Given the description of an element on the screen output the (x, y) to click on. 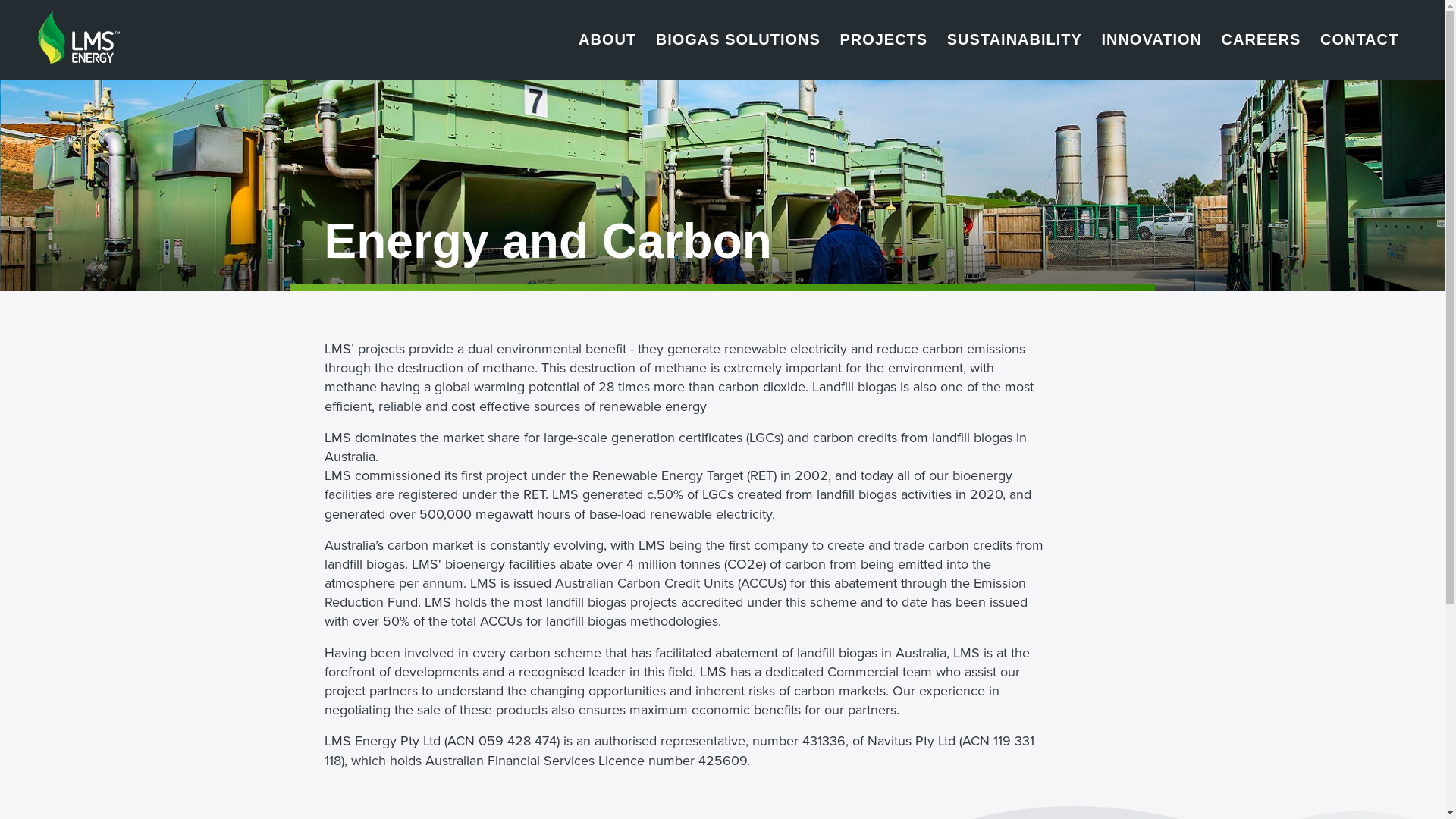
BIOGAS SOLUTIONS Element type: text (737, 39)
PROJECTS Element type: text (883, 39)
ABOUT Element type: text (607, 39)
INNOVATION Element type: text (1151, 39)
CONTACT Element type: text (1359, 39)
CAREERS Element type: text (1260, 39)
SUSTAINABILITY Element type: text (1013, 39)
